Given the description of an element on the screen output the (x, y) to click on. 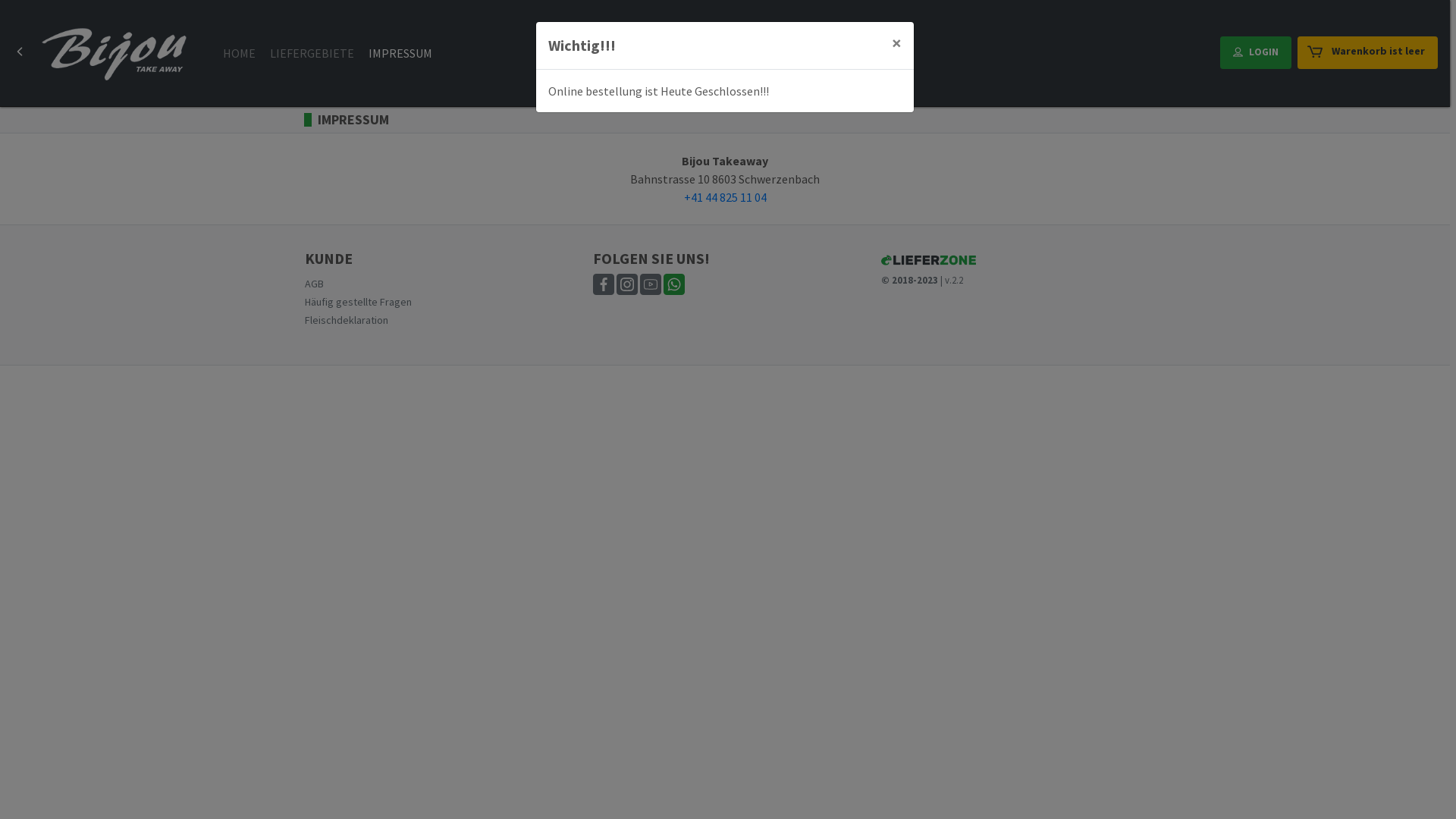
LIEFERGEBIETE Element type: text (311, 52)
Warenkorb ist leer Element type: text (1367, 52)
LOGIN Element type: text (1255, 52)
Fleischdeklaration Element type: text (346, 319)
AGB Element type: text (313, 283)
HOME Element type: text (238, 52)
IMPRESSUM
(CURRENT) Element type: text (399, 52)
+41 44 825 11 04 Element type: text (725, 196)
